Given the description of an element on the screen output the (x, y) to click on. 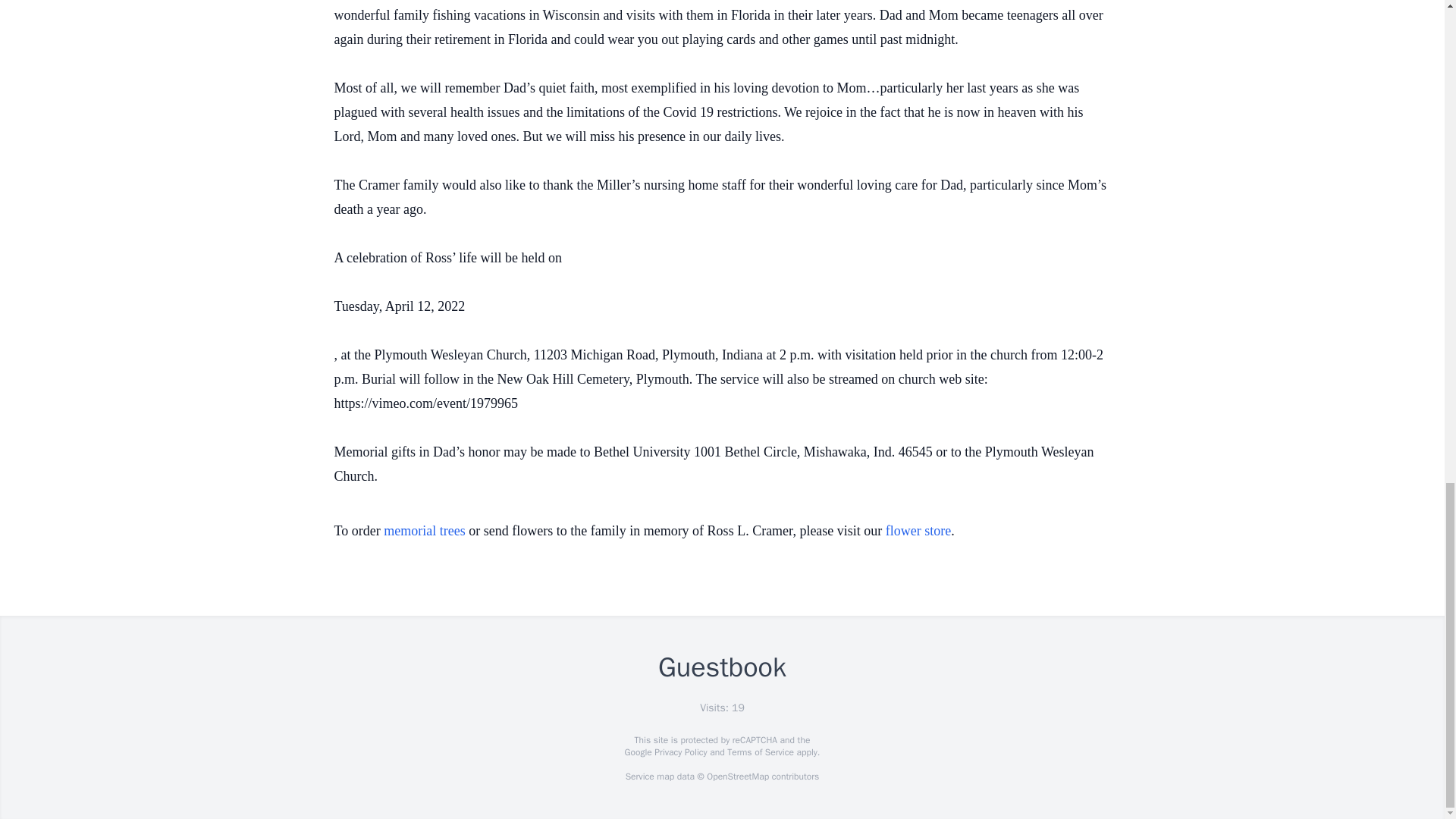
memorial trees (424, 530)
Privacy Policy (679, 752)
Terms of Service (759, 752)
OpenStreetMap (737, 776)
flower store (917, 530)
